Given the description of an element on the screen output the (x, y) to click on. 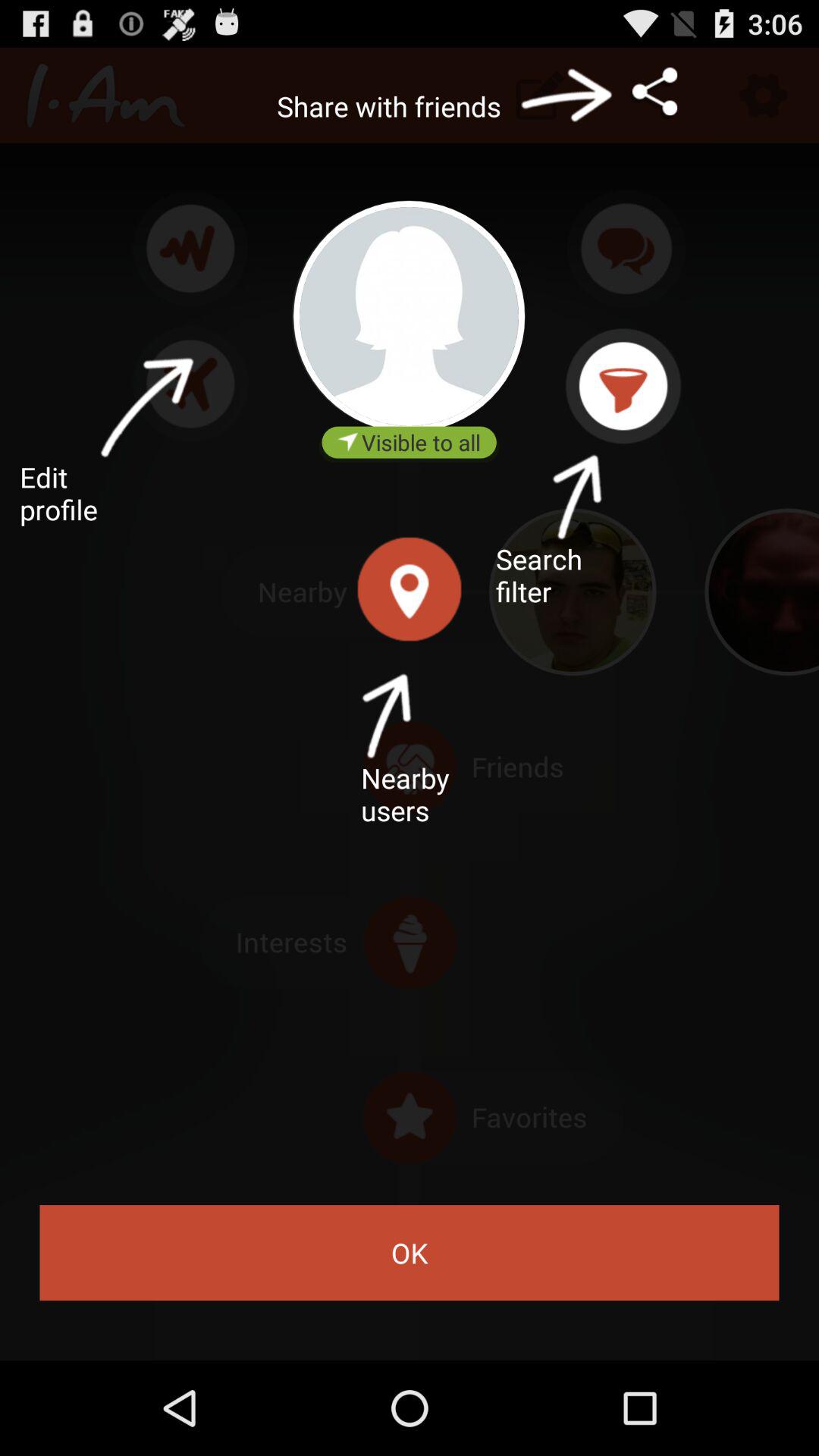
tap the ok (409, 1252)
